Given the description of an element on the screen output the (x, y) to click on. 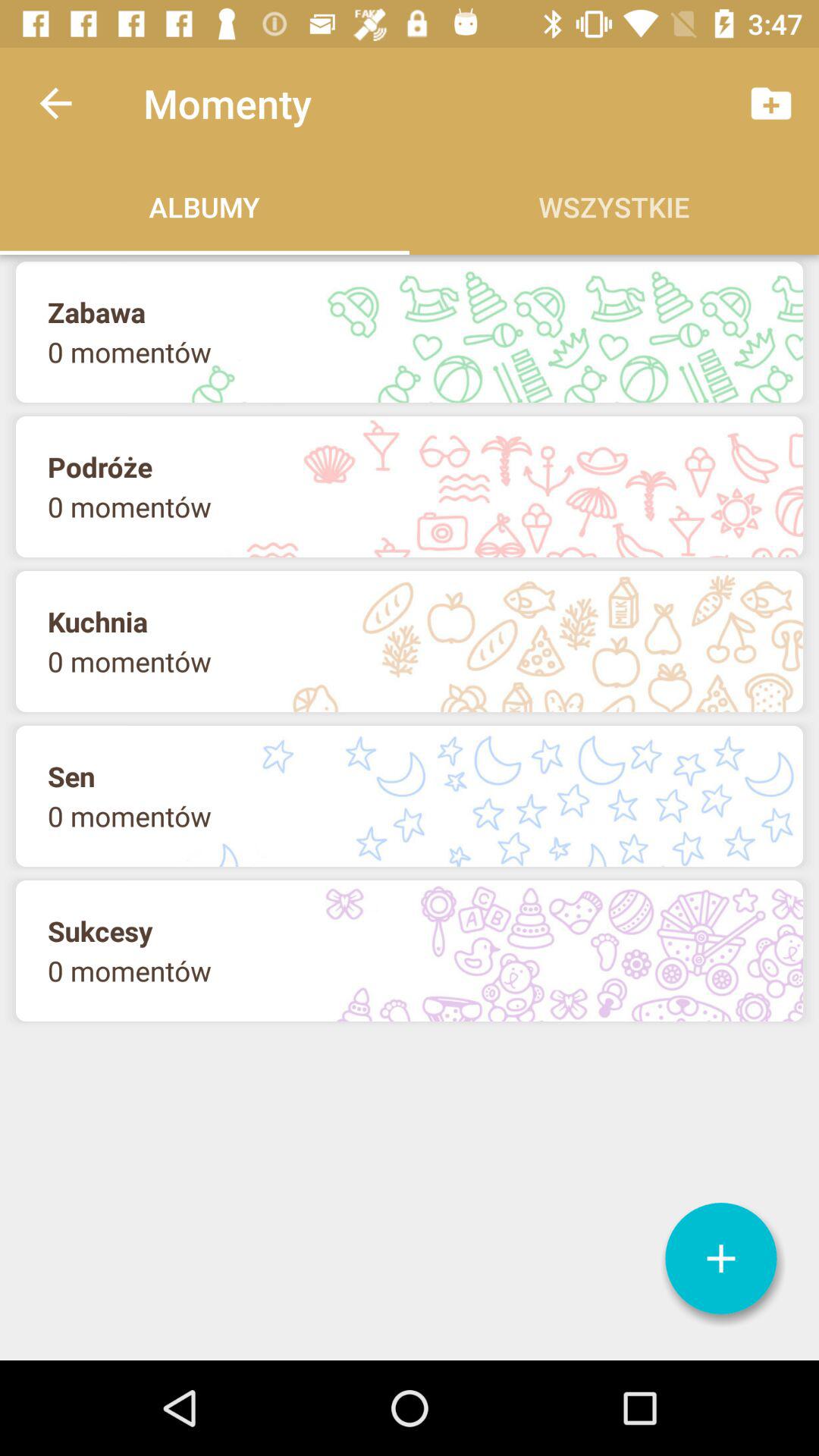
choose the app to the left of the momenty icon (55, 103)
